Given the description of an element on the screen output the (x, y) to click on. 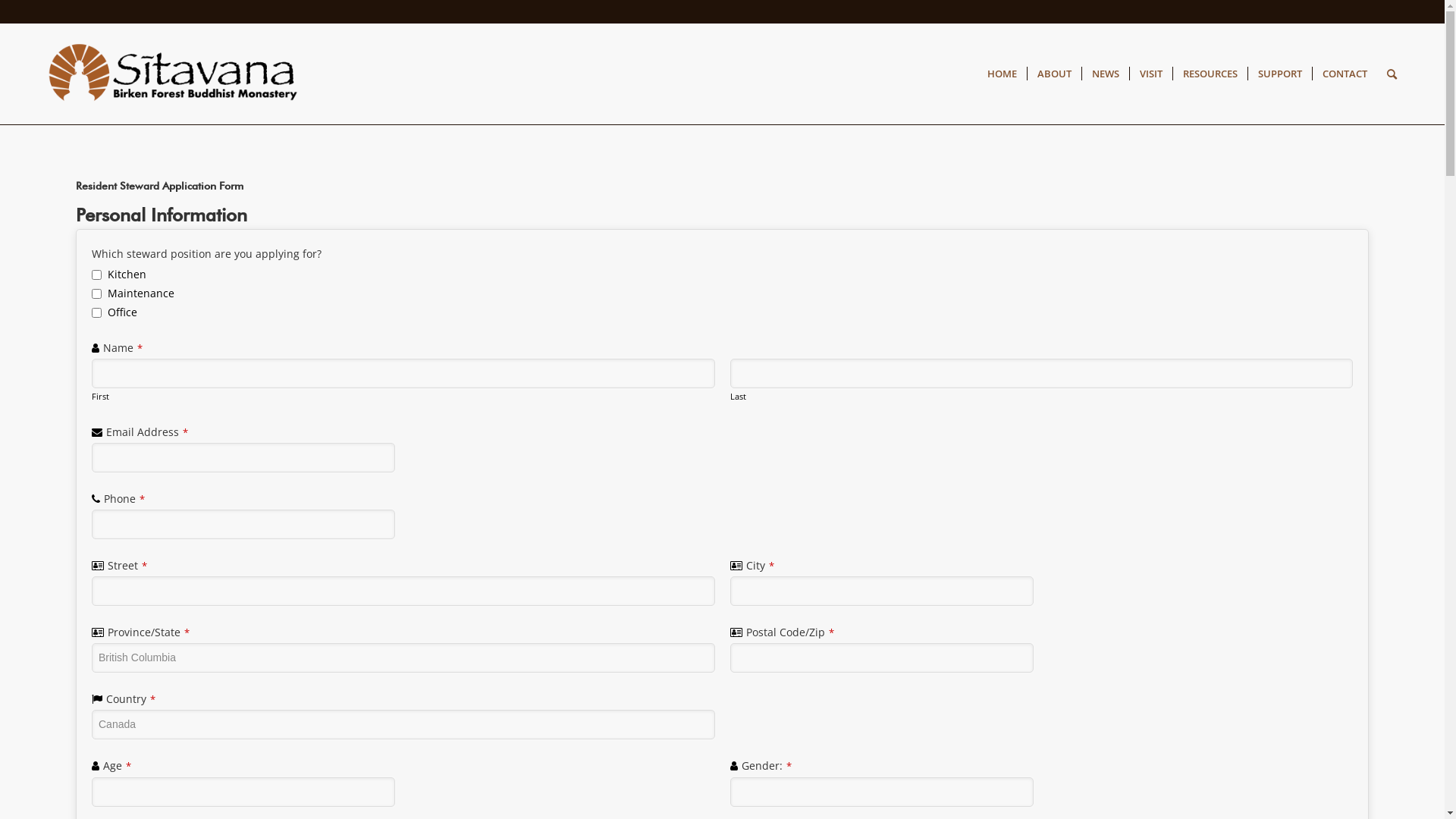
RESOURCES Element type: text (1209, 73)
Birken 2019 LOGO Element type: hover (178, 73)
SUPPORT Element type: text (1279, 73)
NEWS Element type: text (1105, 73)
HOME Element type: text (1001, 73)
VISIT Element type: text (1150, 73)
ABOUT Element type: text (1053, 73)
CONTACT Element type: text (1344, 73)
